Given the description of an element on the screen output the (x, y) to click on. 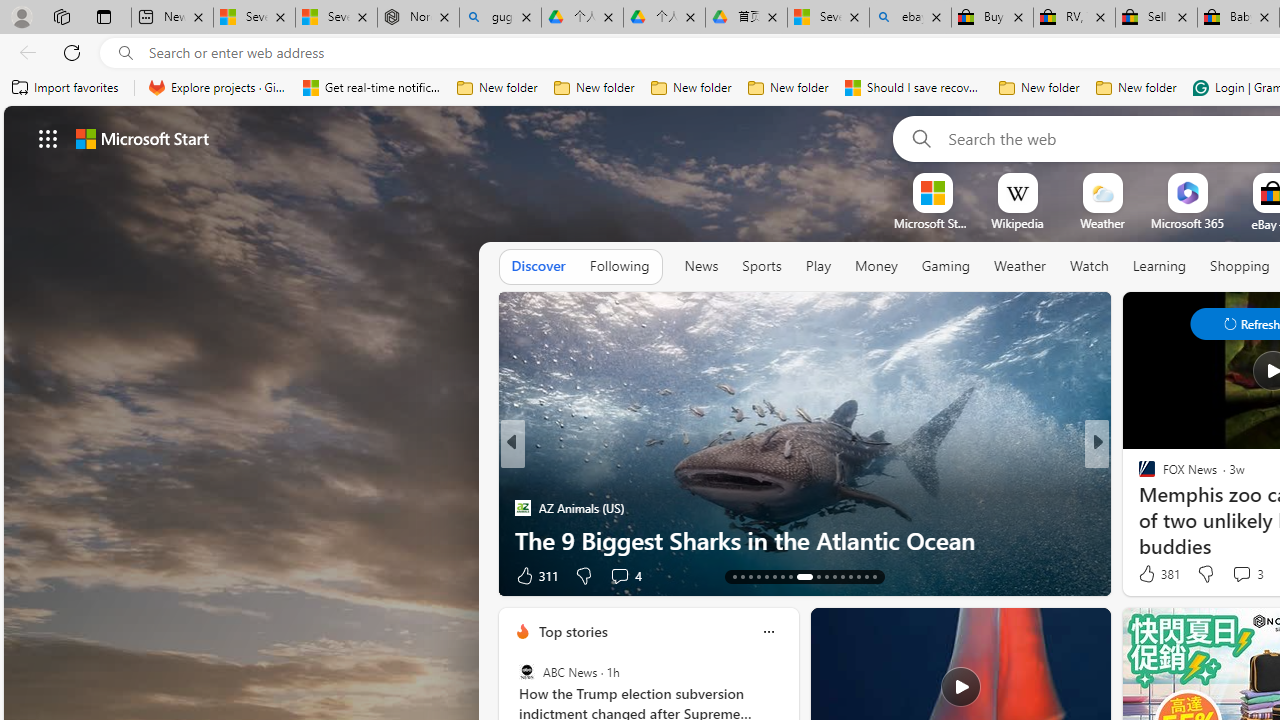
20 Like (1149, 574)
3 Like (1145, 574)
Close tab (1264, 16)
AutomationID: tab-20 (789, 576)
Tab actions menu (104, 16)
AutomationID: tab-23 (825, 576)
AutomationID: tab-13 (733, 576)
Class: icon-img (768, 632)
Sports (761, 267)
AutomationID: tab-25 (842, 576)
CNN Money (1138, 475)
AutomationID: tab-24 (833, 576)
Back (24, 52)
Money (875, 265)
